Given the description of an element on the screen output the (x, y) to click on. 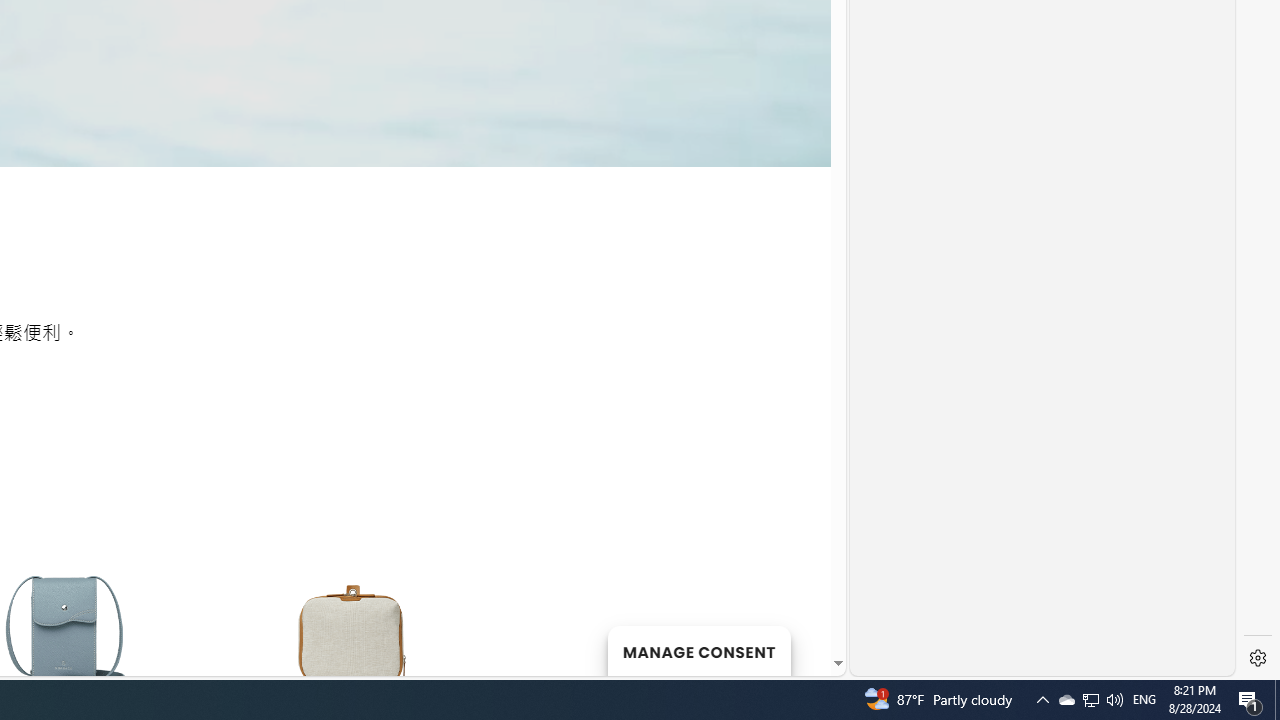
MANAGE CONSENT (698, 650)
